Given the description of an element on the screen output the (x, y) to click on. 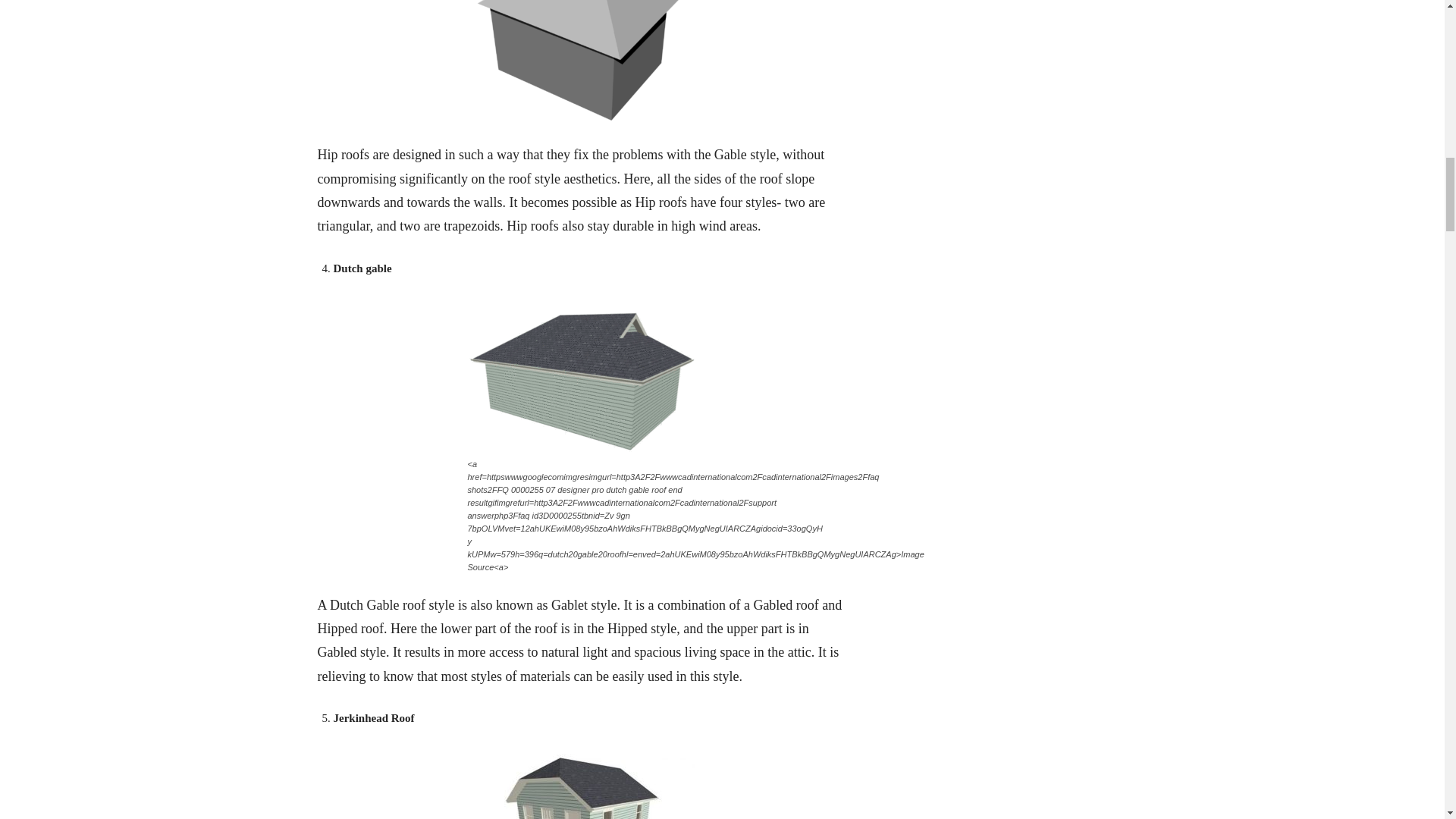
9f824ebf7a74d9b726eeab730737a559 - A Best Fashion (580, 783)
unnamed - A Best Fashion (580, 375)
